Given the description of an element on the screen output the (x, y) to click on. 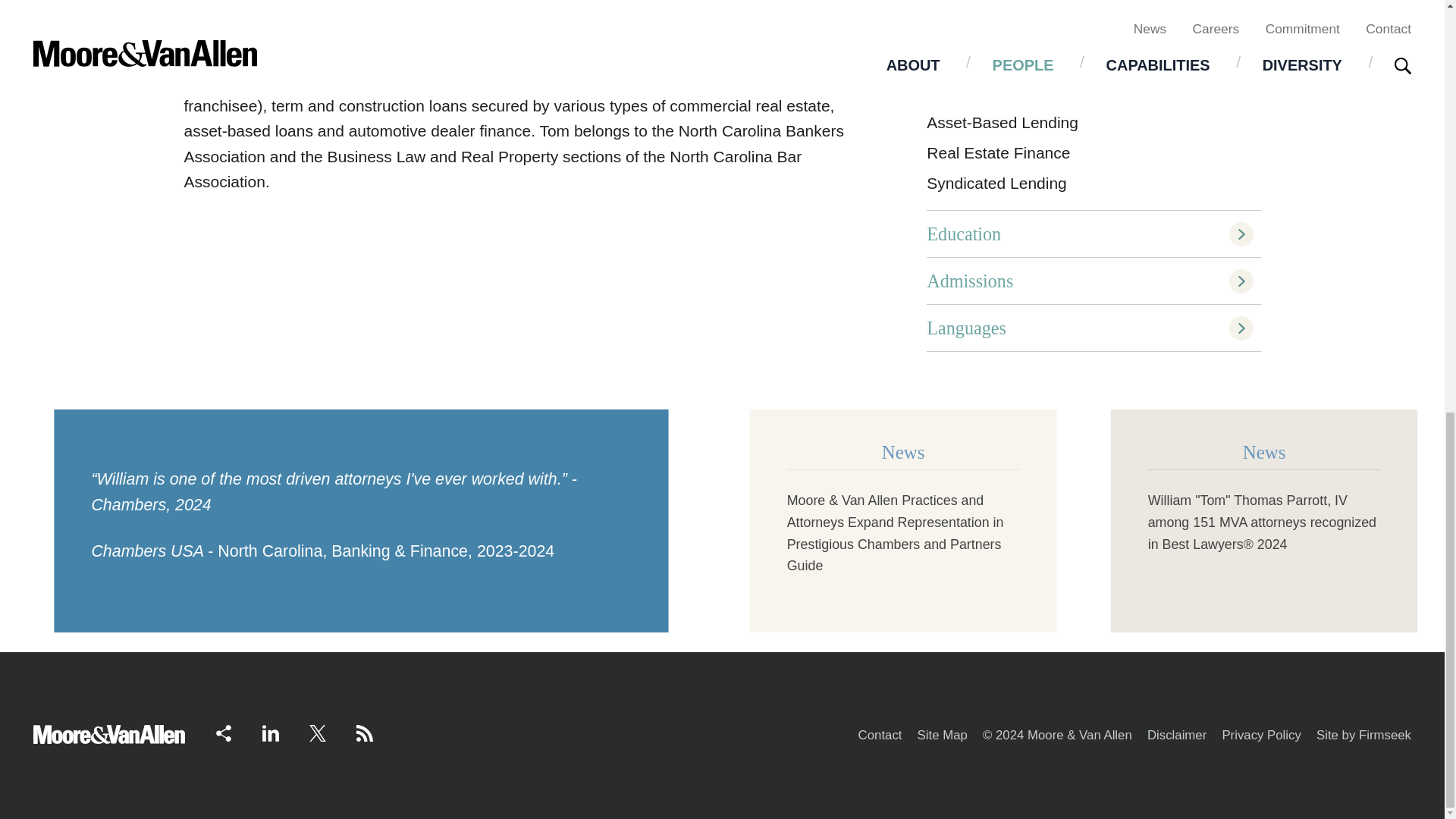
Share (223, 733)
RSS (364, 733)
LinkedIn (270, 733)
